Given the description of an element on the screen output the (x, y) to click on. 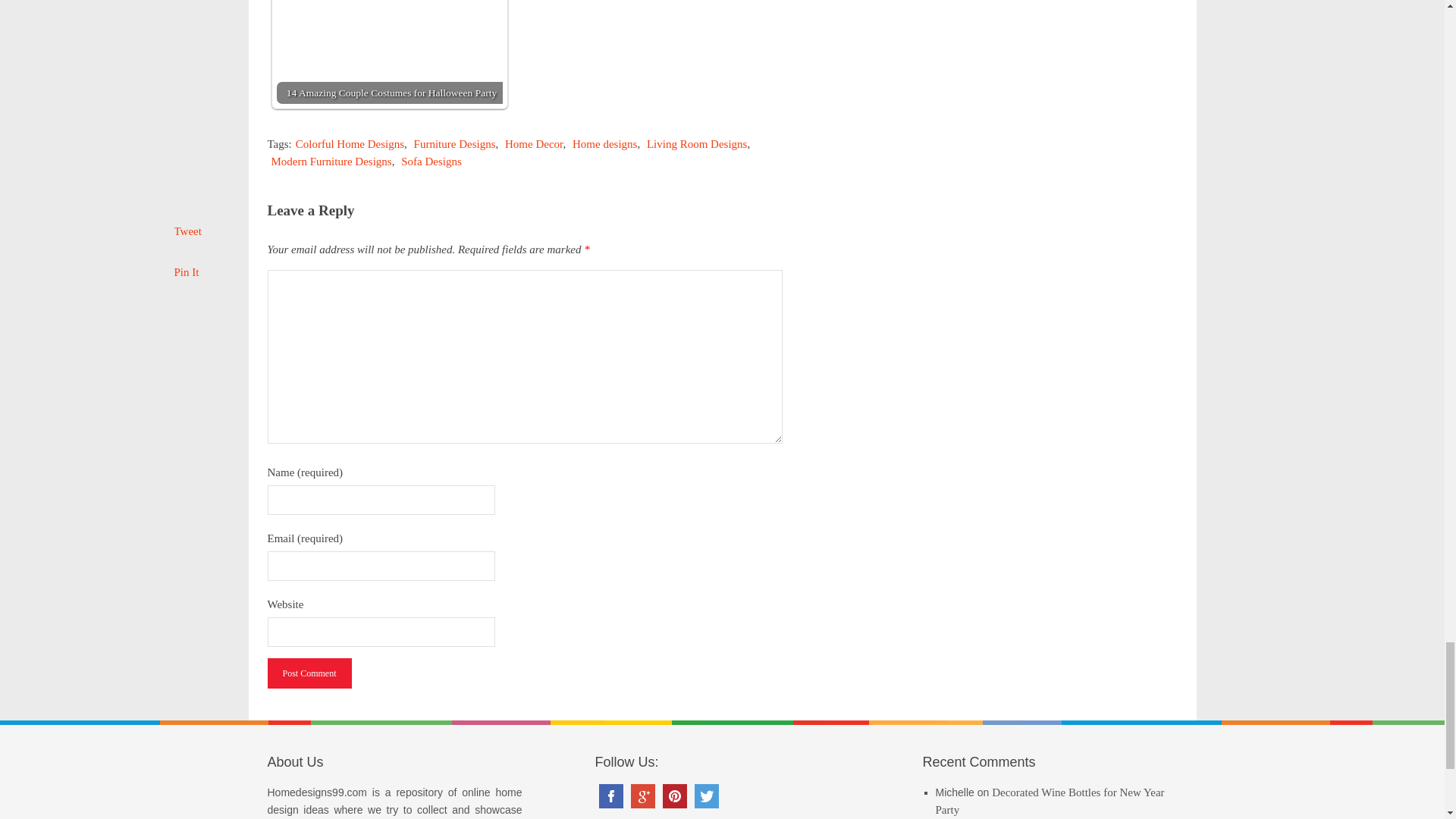
Furniture Designs (454, 143)
Home designs (604, 143)
14 Amazing Couple Costumes for Halloween Party (389, 52)
Post Comment (308, 673)
Modern Furniture Designs (330, 161)
Post Comment (308, 673)
Colorful Home Designs (349, 143)
Sofa Designs (431, 161)
Living Room Designs (697, 143)
Home Decor (533, 143)
